Given the description of an element on the screen output the (x, y) to click on. 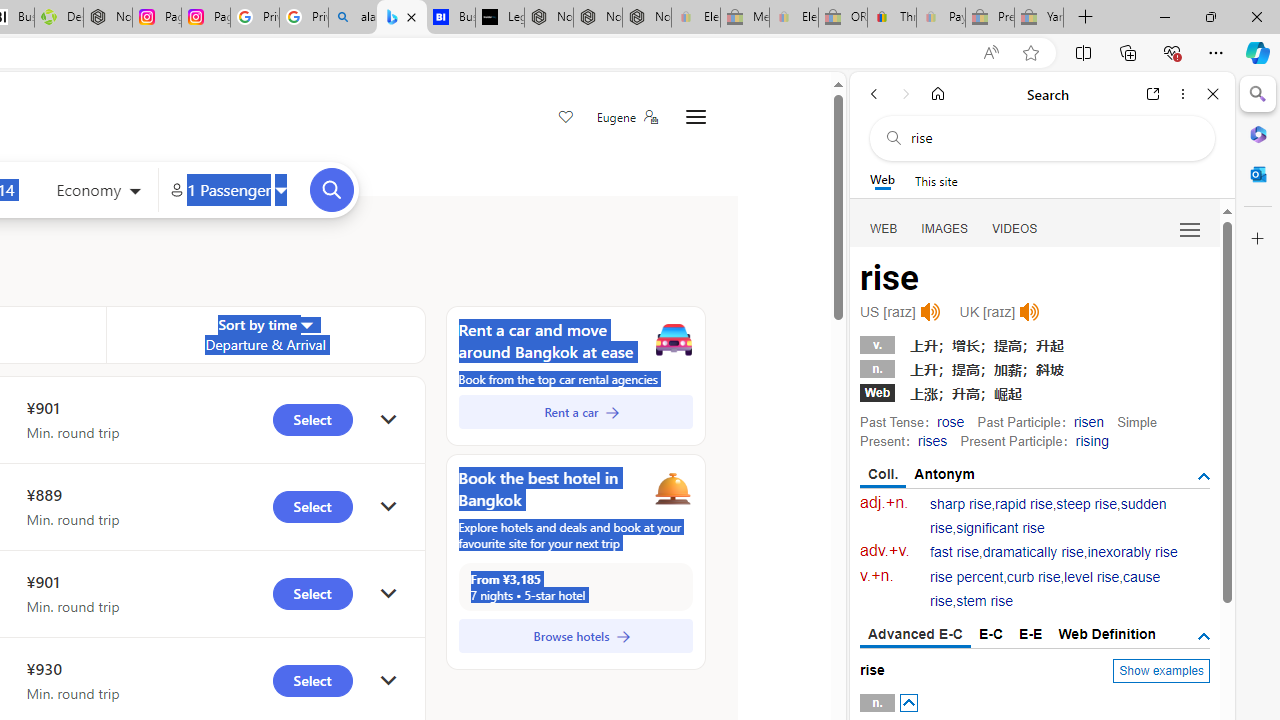
Class: b_serphb (1190, 229)
Preferences (1189, 228)
